Given the description of an element on the screen output the (x, y) to click on. 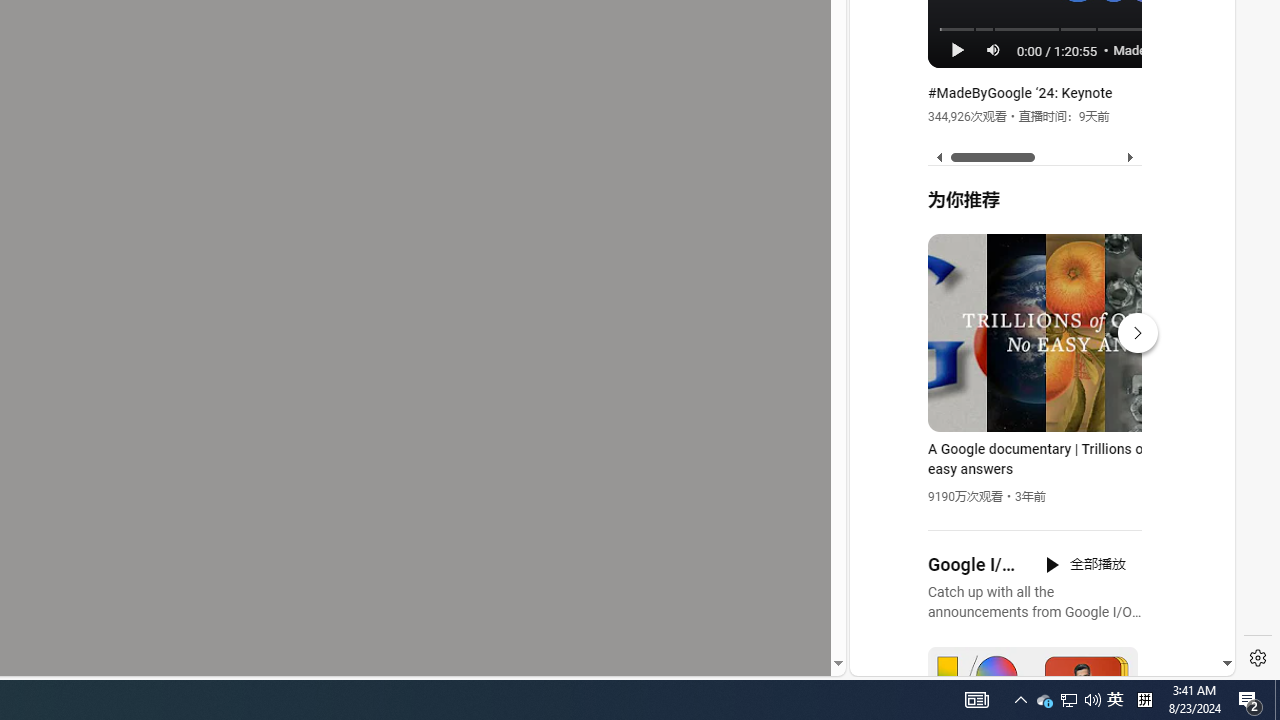
Actions for this site (1131, 443)
US[ju] (917, 660)
YouTube - YouTube (1034, 266)
Click to scroll right (1196, 83)
